Given the description of an element on the screen output the (x, y) to click on. 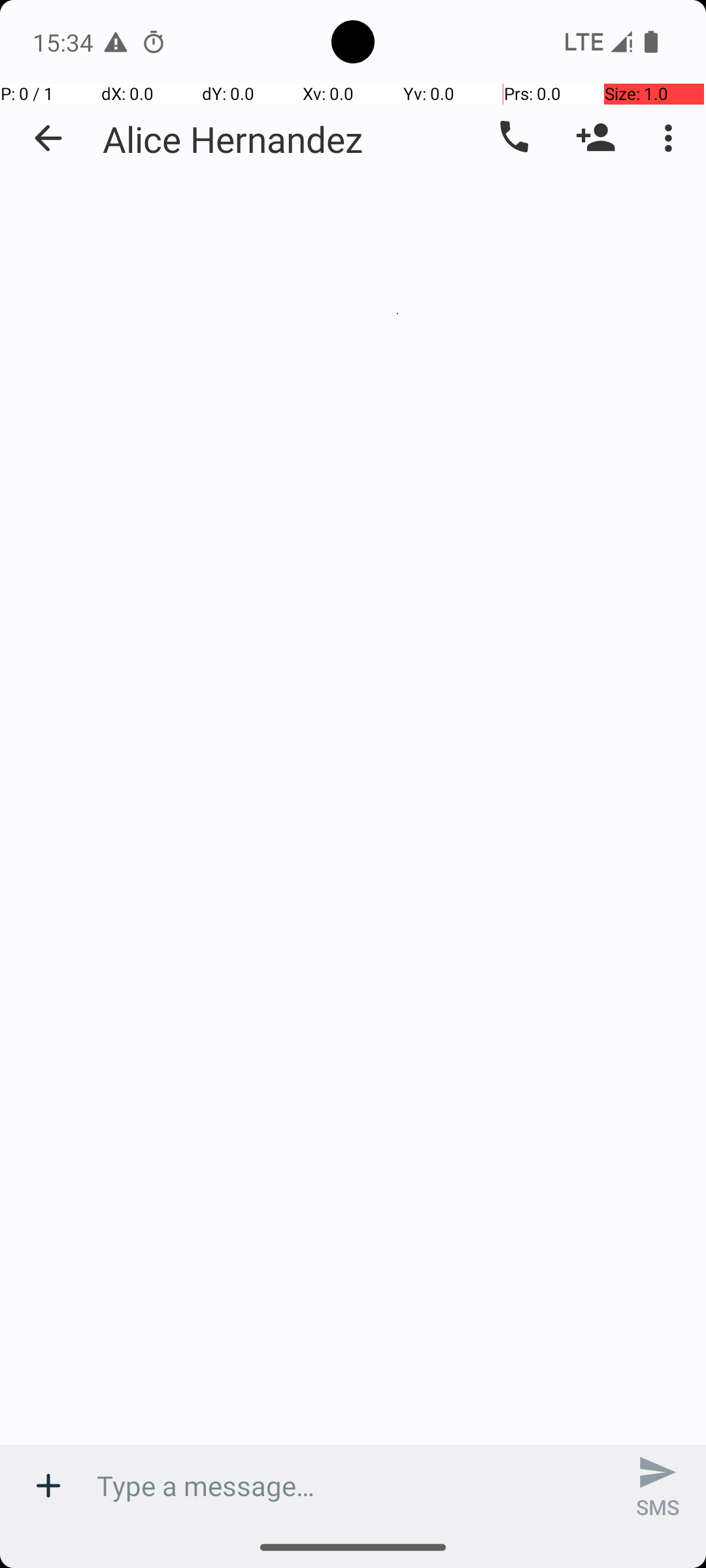
Alice Hernandez Element type: android.widget.TextView (232, 138)
